Given the description of an element on the screen output the (x, y) to click on. 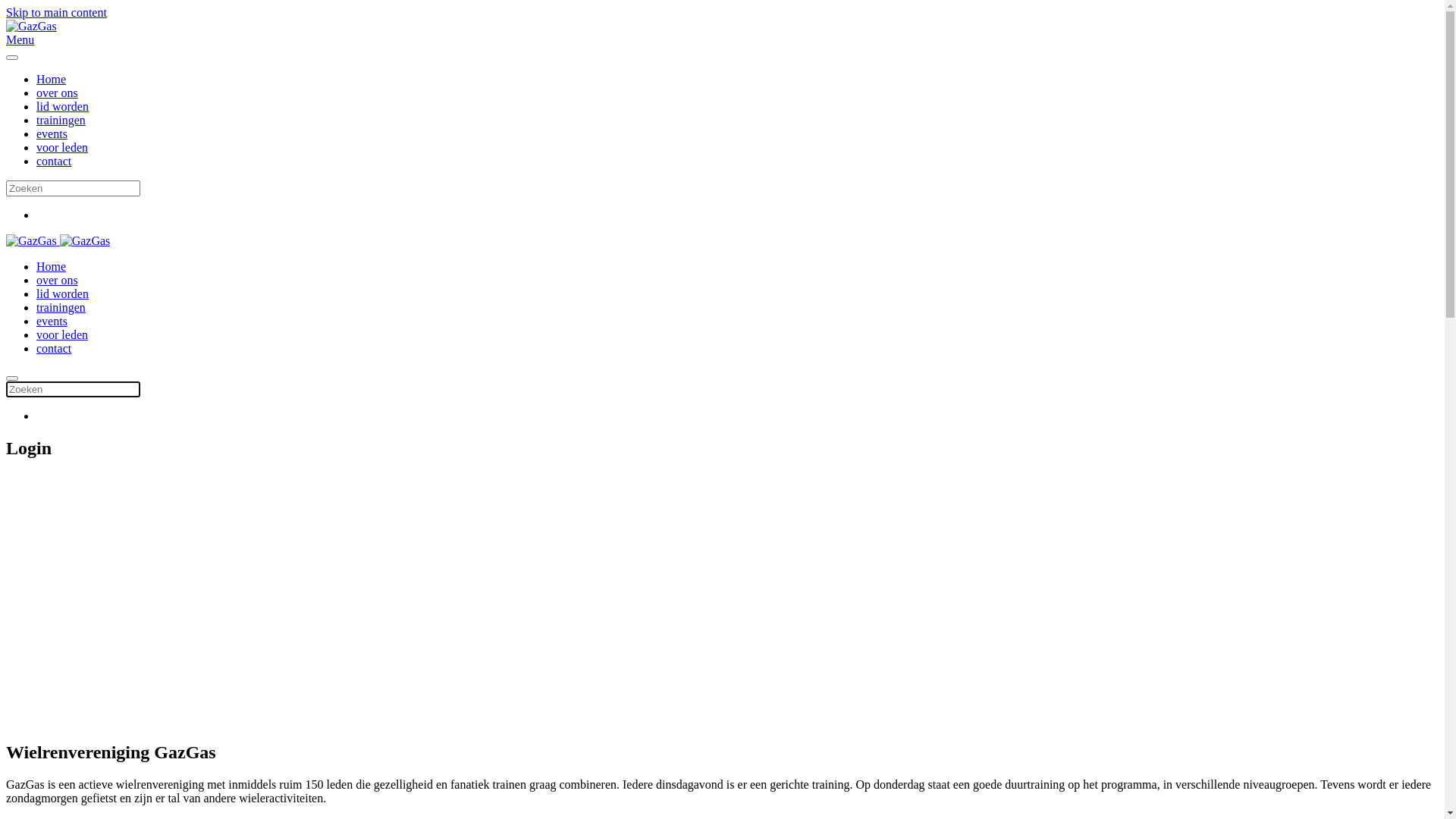
contact Element type: text (53, 348)
trainingen Element type: text (60, 119)
voor leden Element type: text (61, 334)
events Element type: text (51, 133)
Skip to main content Element type: text (56, 12)
Home Element type: text (50, 78)
Inloggen Element type: text (127, 666)
voor leden Element type: text (61, 147)
over ons Element type: text (57, 279)
contact Element type: text (53, 160)
trainingen Element type: text (60, 307)
over ons Element type: text (57, 92)
Home Element type: text (50, 266)
lid worden Element type: text (62, 106)
lid worden Element type: text (62, 293)
Menu Element type: text (722, 40)
events Element type: text (51, 320)
